Given the description of an element on the screen output the (x, y) to click on. 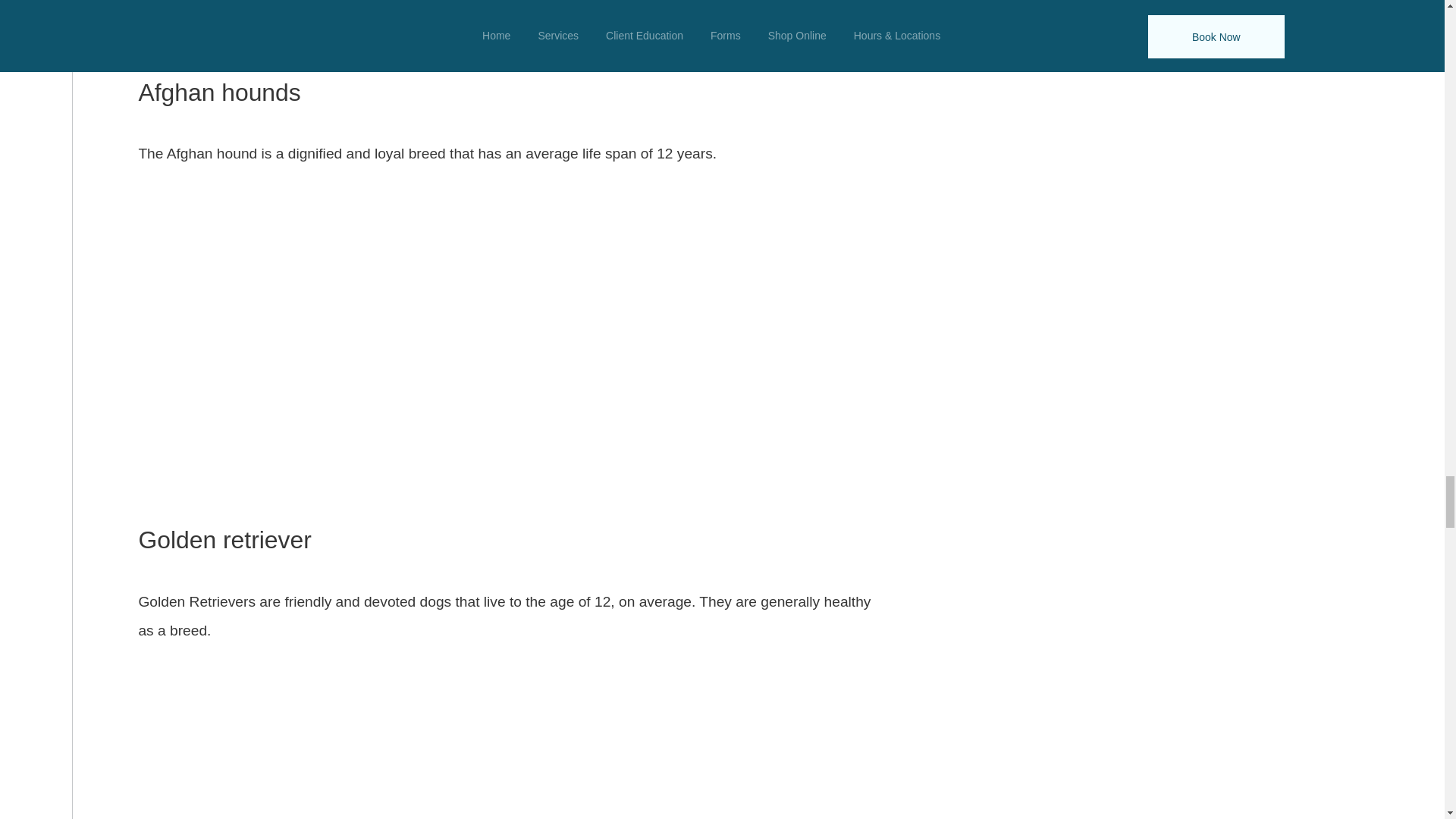
The 25 Dog Breeds With Longest Life Spans 15 (512, 26)
The 25 Dog Breeds With Longest Life Spans 17 (512, 734)
